Given the description of an element on the screen output the (x, y) to click on. 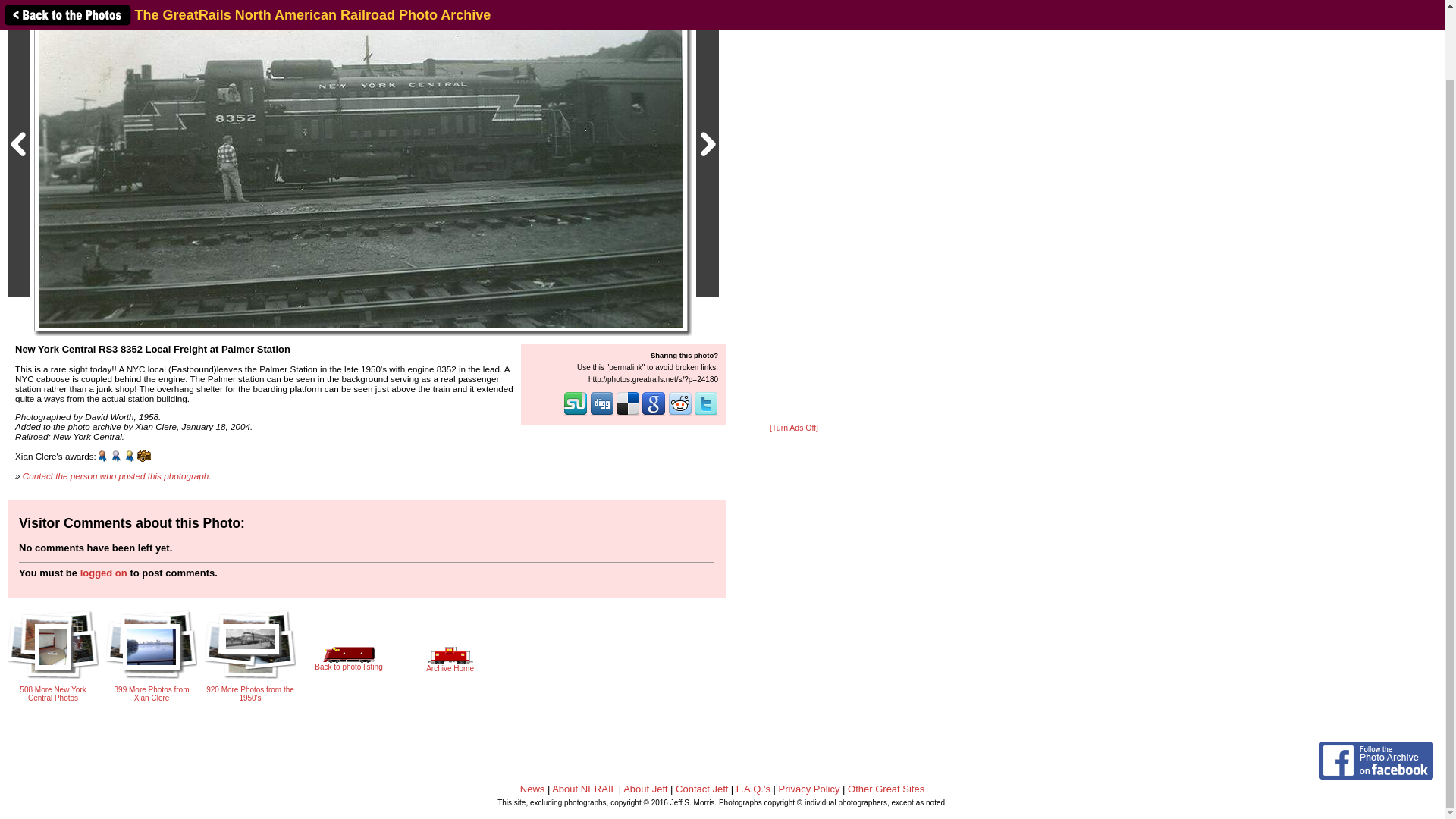
About Jeff (644, 788)
Submit to Reddit (680, 413)
399 More Photos from Xian Clere (151, 688)
News (531, 788)
Submit to Google Bookmarks (653, 413)
Contact the person who posted this photograph (116, 475)
Back to photo listing (348, 662)
Twit This (705, 413)
508 More New York Central Photos (52, 688)
920 More Photos from the 1950's (250, 673)
